Given the description of an element on the screen output the (x, y) to click on. 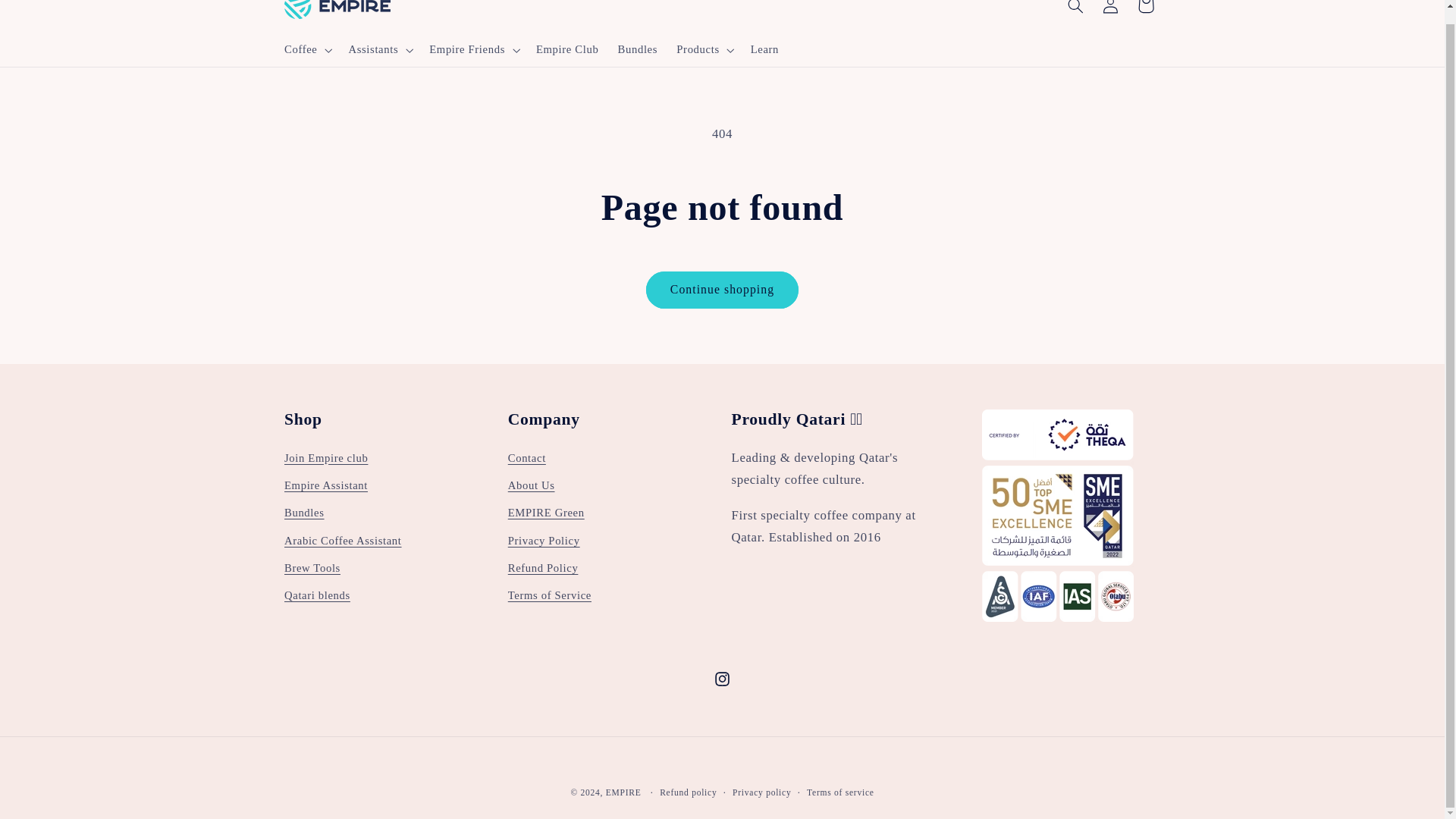
Log in (1110, 11)
Empire Club (566, 49)
Bundles (637, 49)
Skip to content (48, 11)
Cart (1145, 11)
Learn (765, 49)
